Given the description of an element on the screen output the (x, y) to click on. 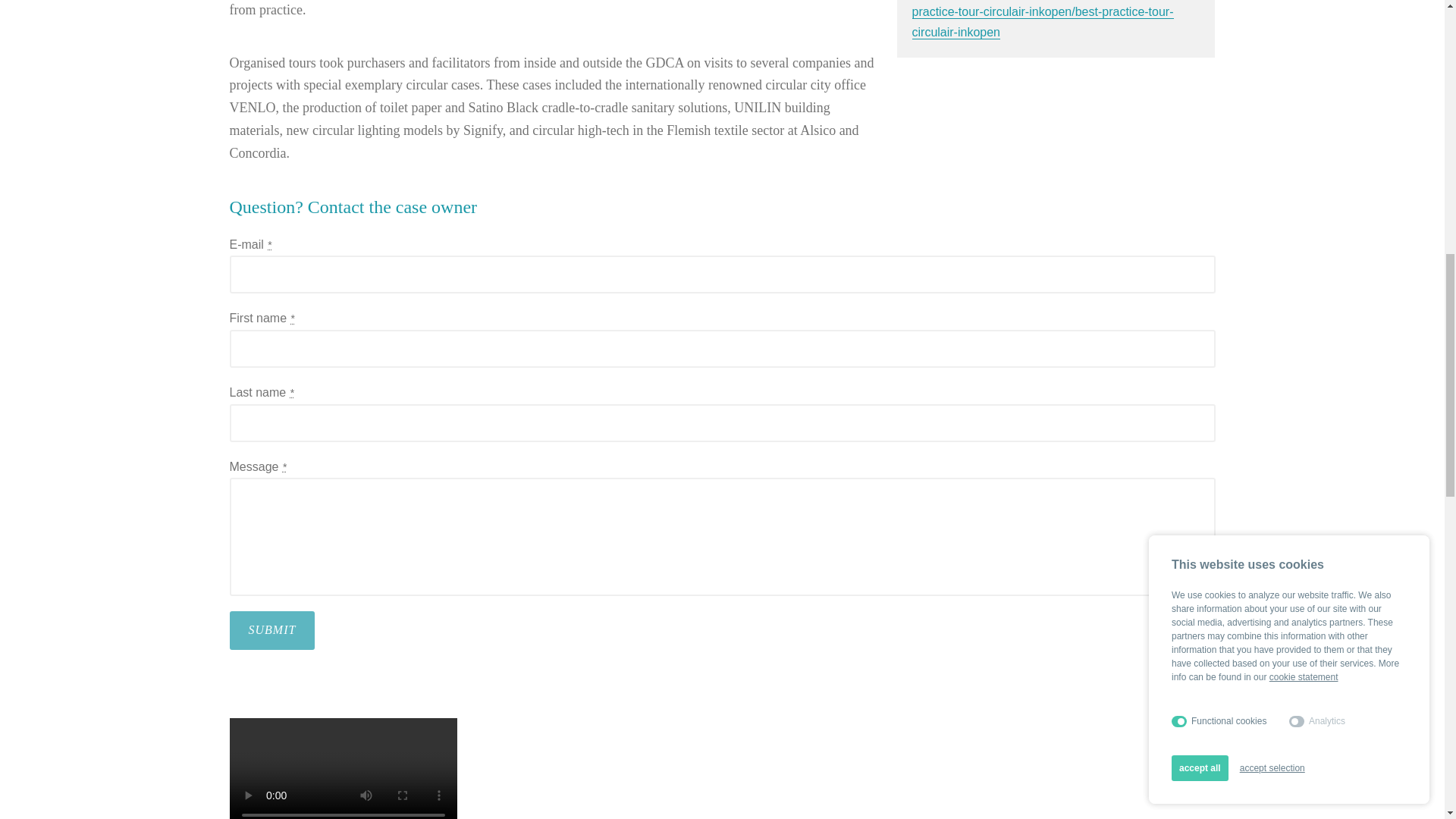
Submit (271, 629)
Submit (271, 629)
